Given the description of an element on the screen output the (x, y) to click on. 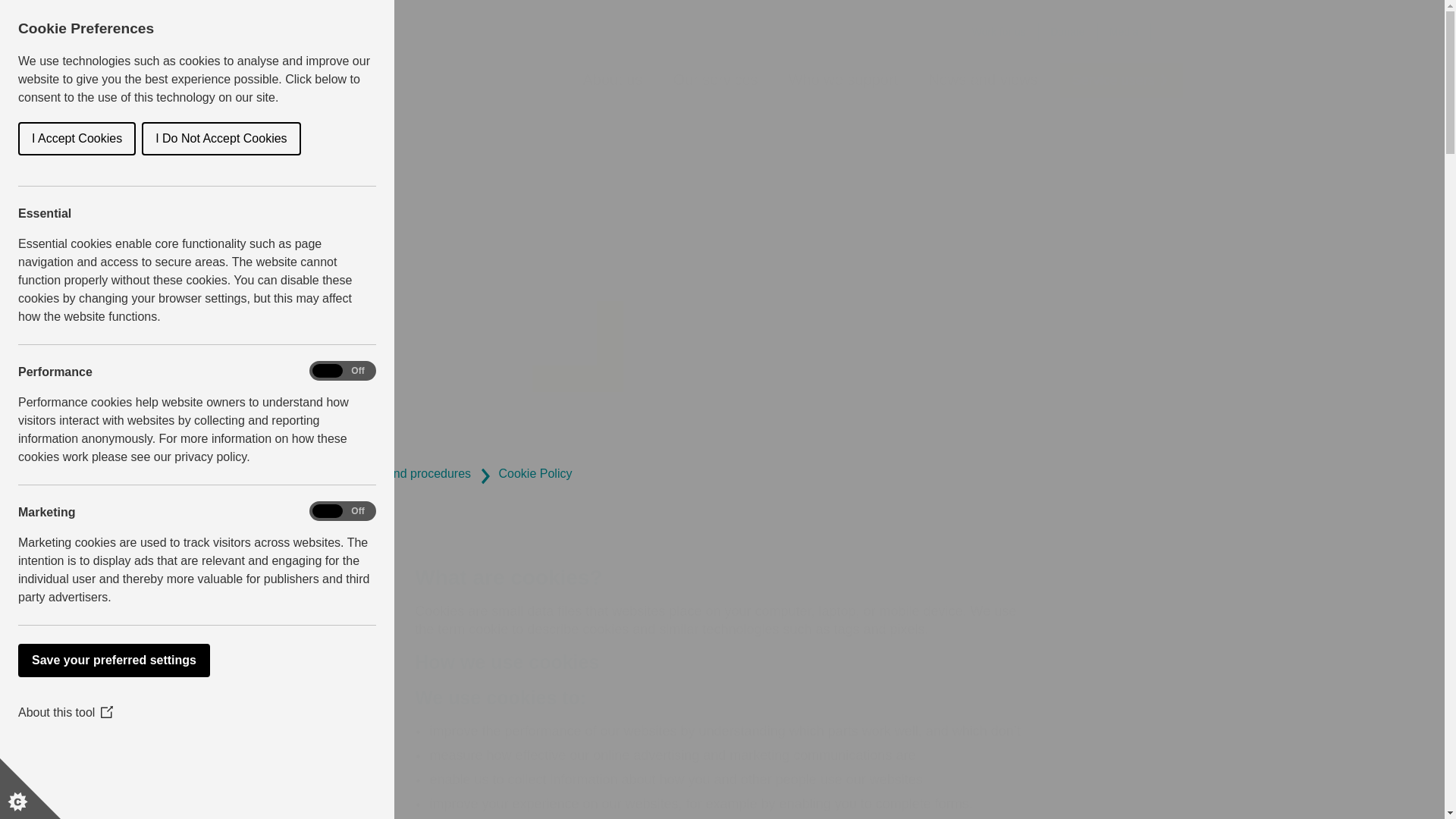
Our services (714, 79)
I Do Not Accept Cookies (15, 138)
About us (612, 79)
